Given the description of an element on the screen output the (x, y) to click on. 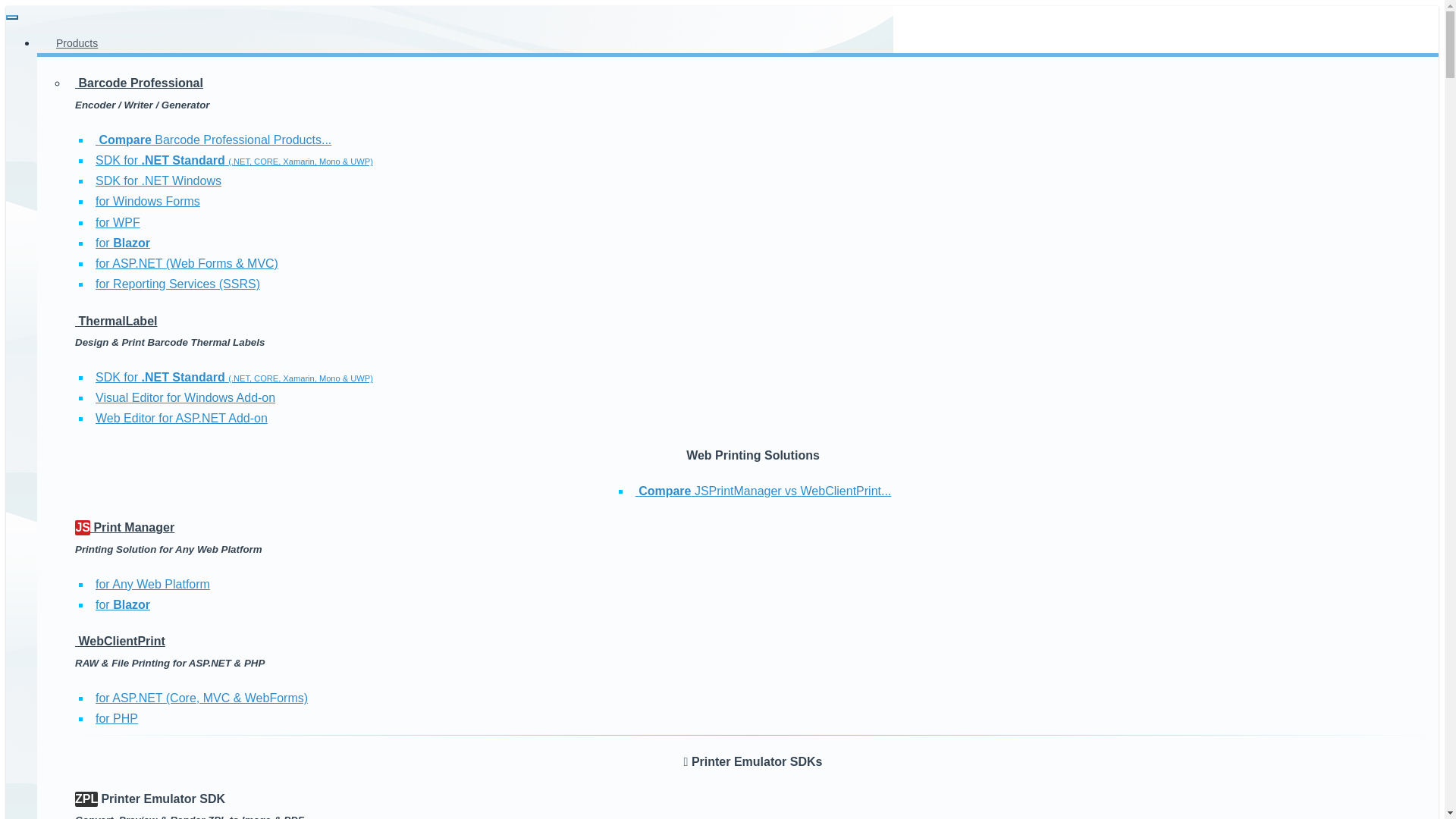
for Blazor (122, 242)
JS Print Manager (124, 526)
 Barcode Professional (139, 82)
Toggle navigation (11, 17)
 ThermalLabel (116, 320)
for WPF (117, 222)
for Windows Forms (148, 201)
Web Editor for ASP.NET Add-on (181, 418)
for Any Web Platform (152, 584)
 WebClientPrint (120, 640)
 Compare Barcode Professional Products... (213, 139)
SDK for .NET Windows (158, 180)
Visual Editor for Windows Add-on (185, 397)
Products (76, 43)
for PHP (117, 717)
